Given the description of an element on the screen output the (x, y) to click on. 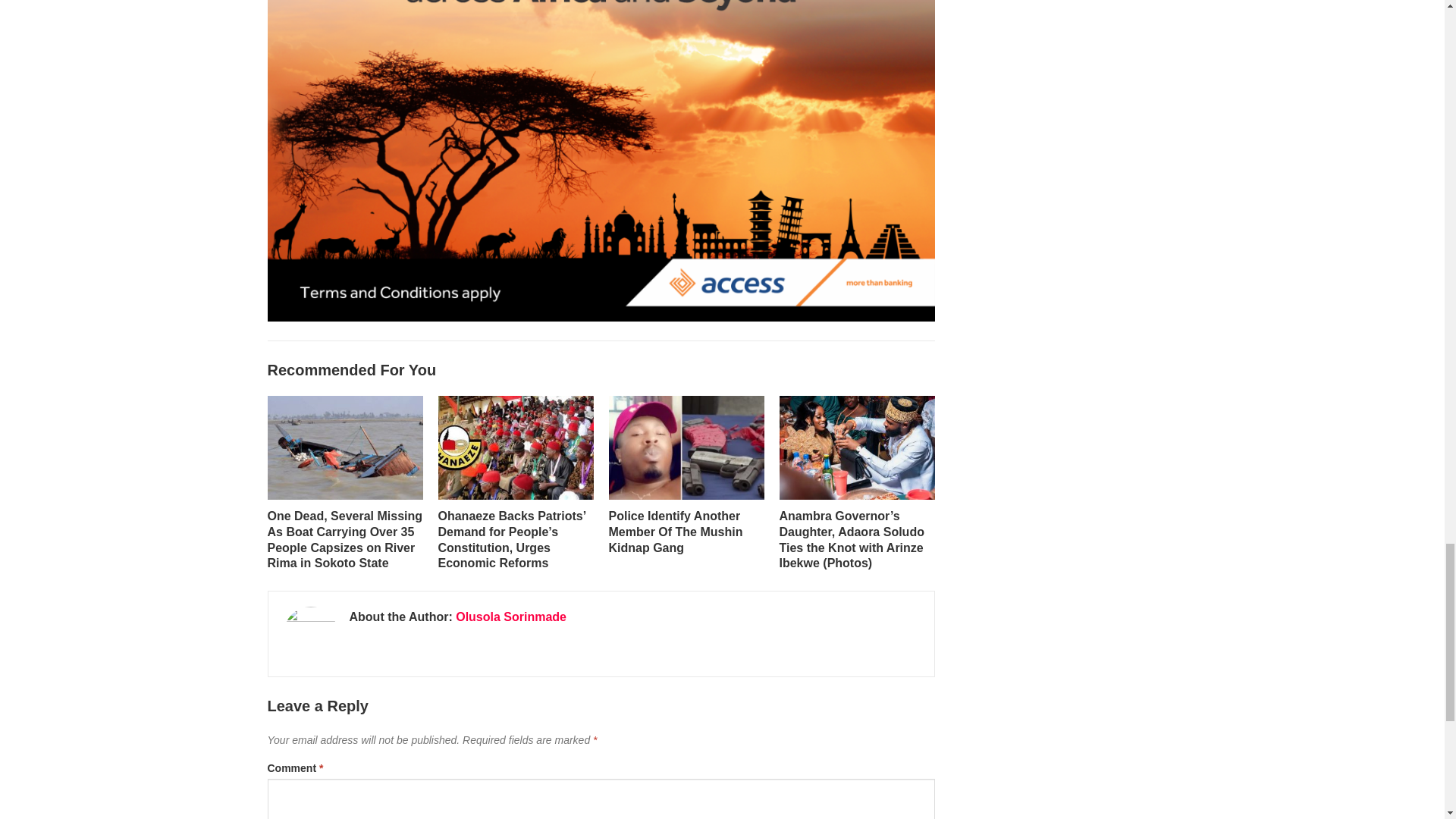
Police Identify Another Member Of The Mushin Kidnap Gang 4 (685, 447)
